Given the description of an element on the screen output the (x, y) to click on. 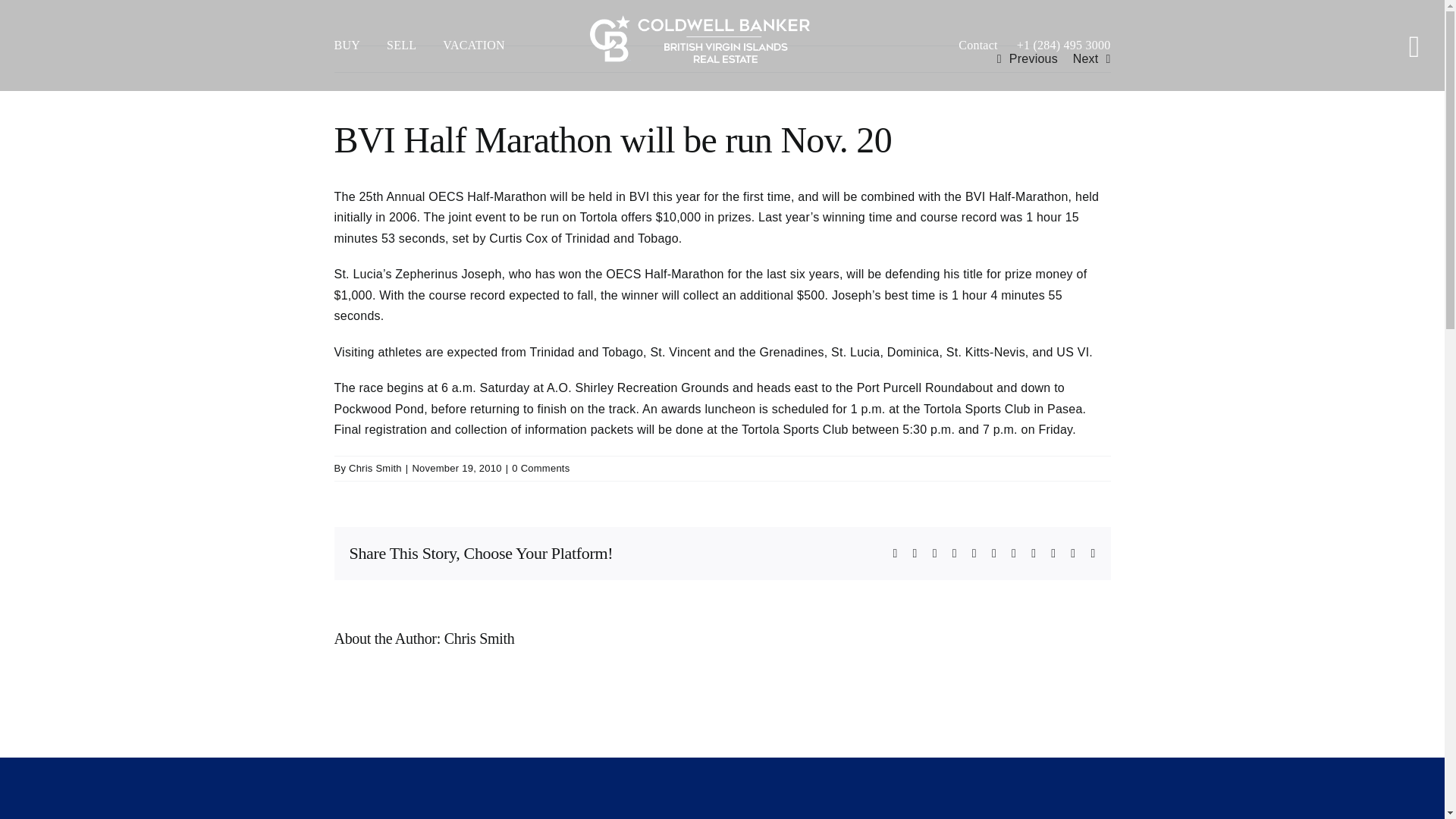
Chris Smith (375, 468)
Next (1086, 58)
Posts by Chris Smith (375, 468)
0 Comments (540, 468)
Previous (1033, 58)
VACATION (486, 45)
Posts by Chris Smith (479, 638)
